Given the description of an element on the screen output the (x, y) to click on. 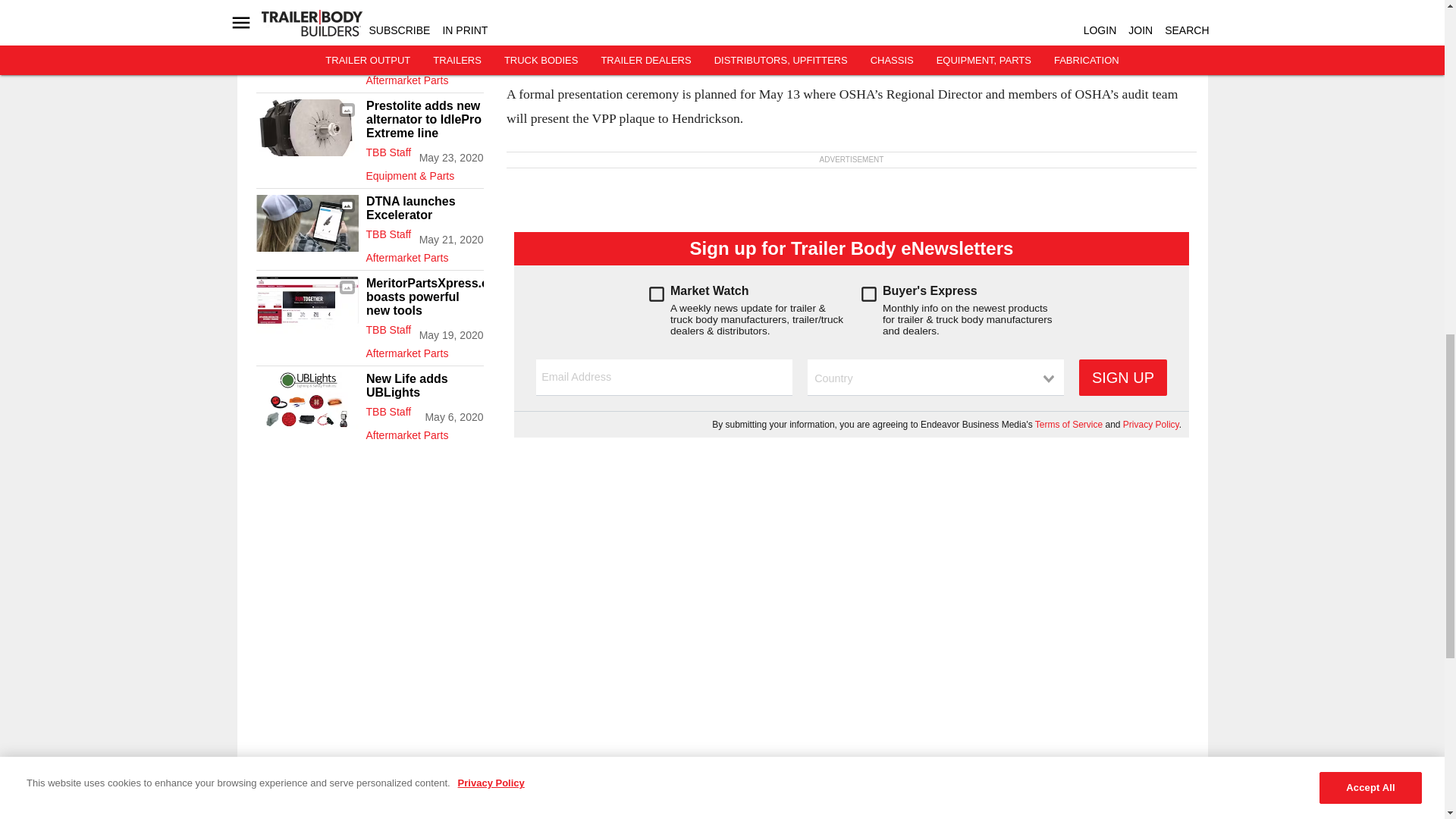
Original (307, 222)
UBLights (307, 400)
MeritorPartsXpress.com home page (307, 304)
Vipar Hd Logo Fc Cmyk (307, 32)
Prestolite alternator (307, 127)
